Given the description of an element on the screen output the (x, y) to click on. 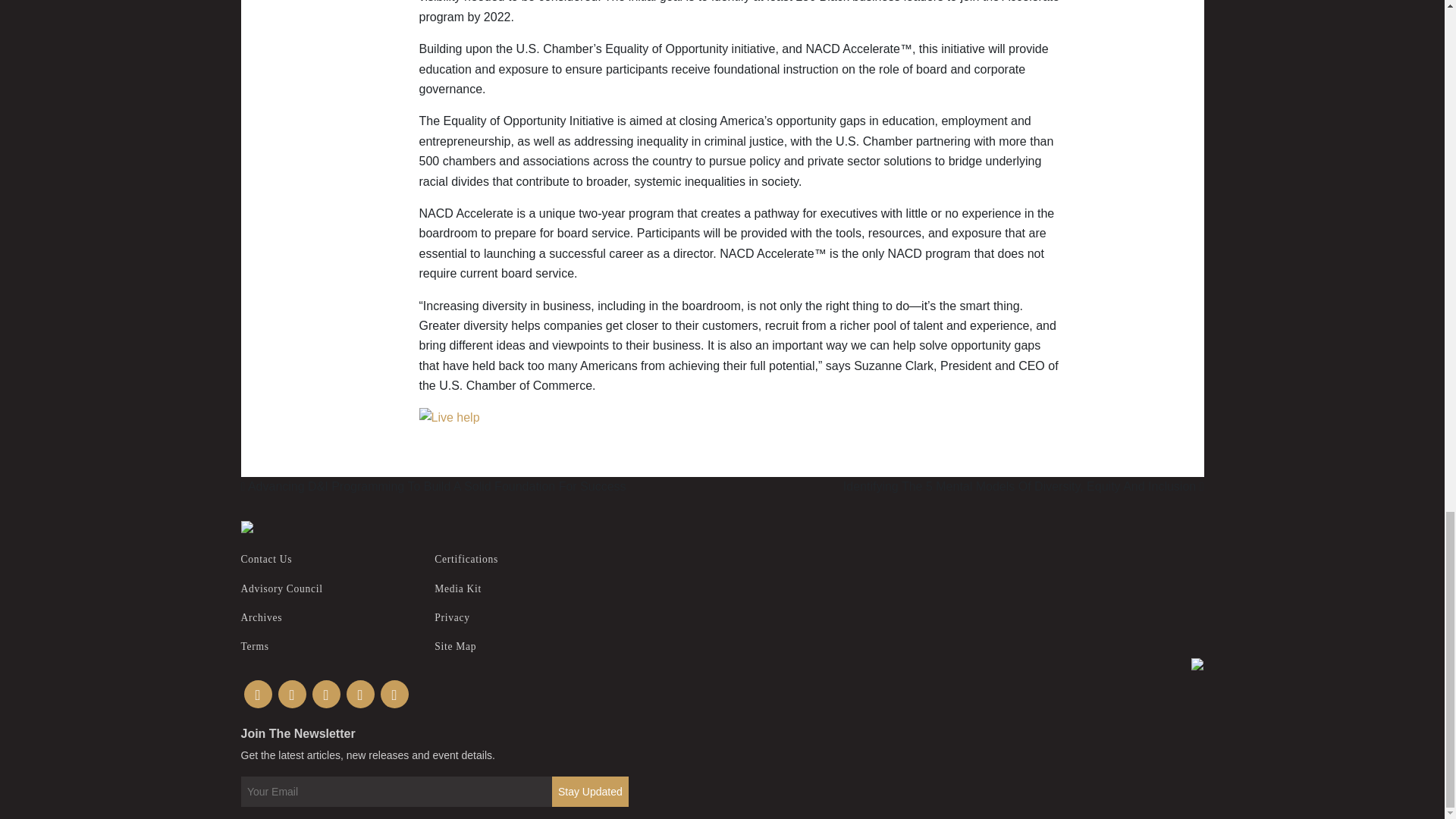
Stay Updated (589, 791)
